Given the description of an element on the screen output the (x, y) to click on. 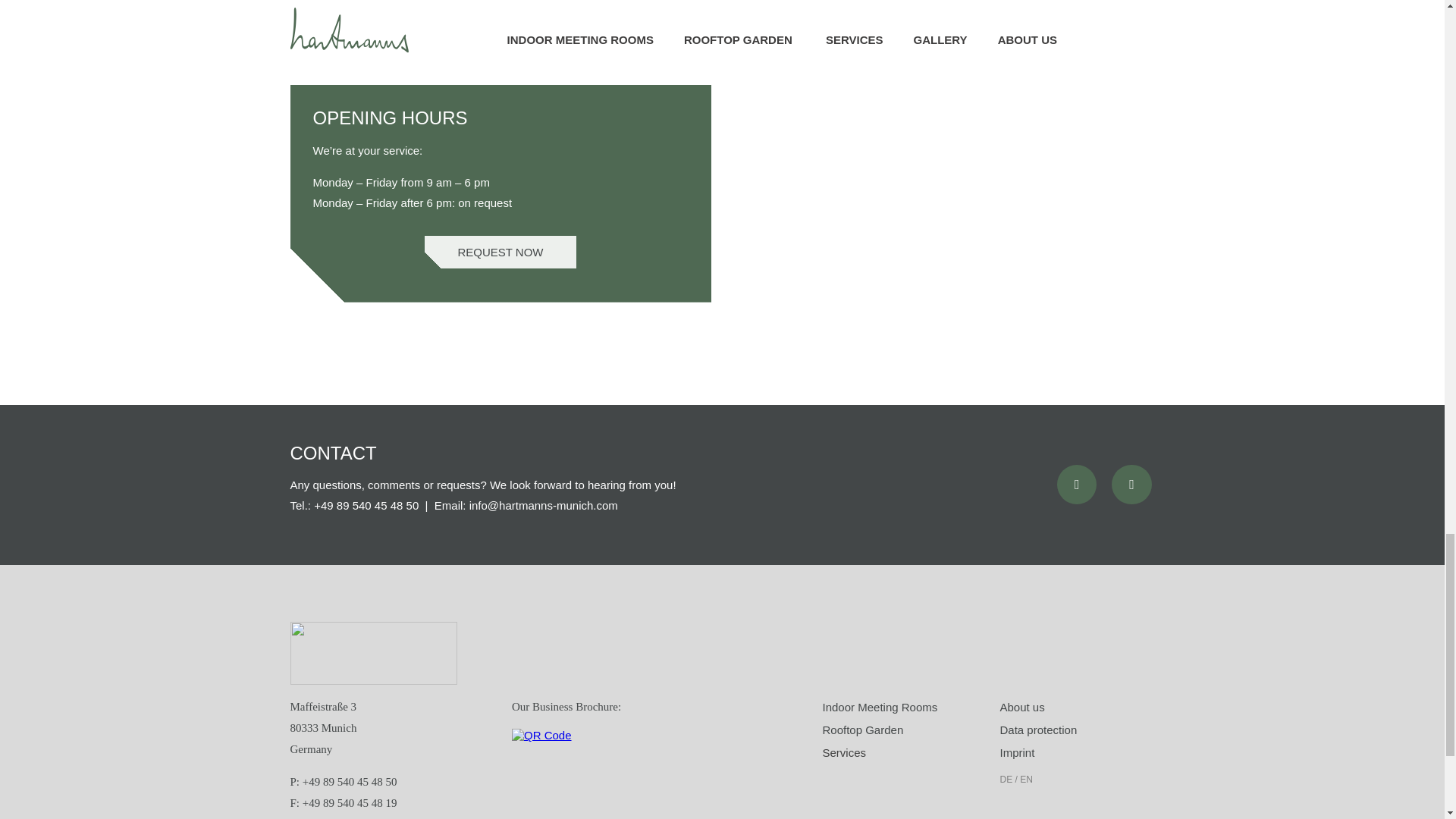
REQUEST NOW (500, 251)
About us (1020, 707)
Data protection (1037, 729)
Indoor Meeting Rooms (879, 707)
Our Business Brochure: (566, 706)
Imprint (1015, 752)
Rooftop Garden (862, 729)
Services (844, 752)
hartmanns-logo-gray (373, 652)
